Given the description of an element on the screen output the (x, y) to click on. 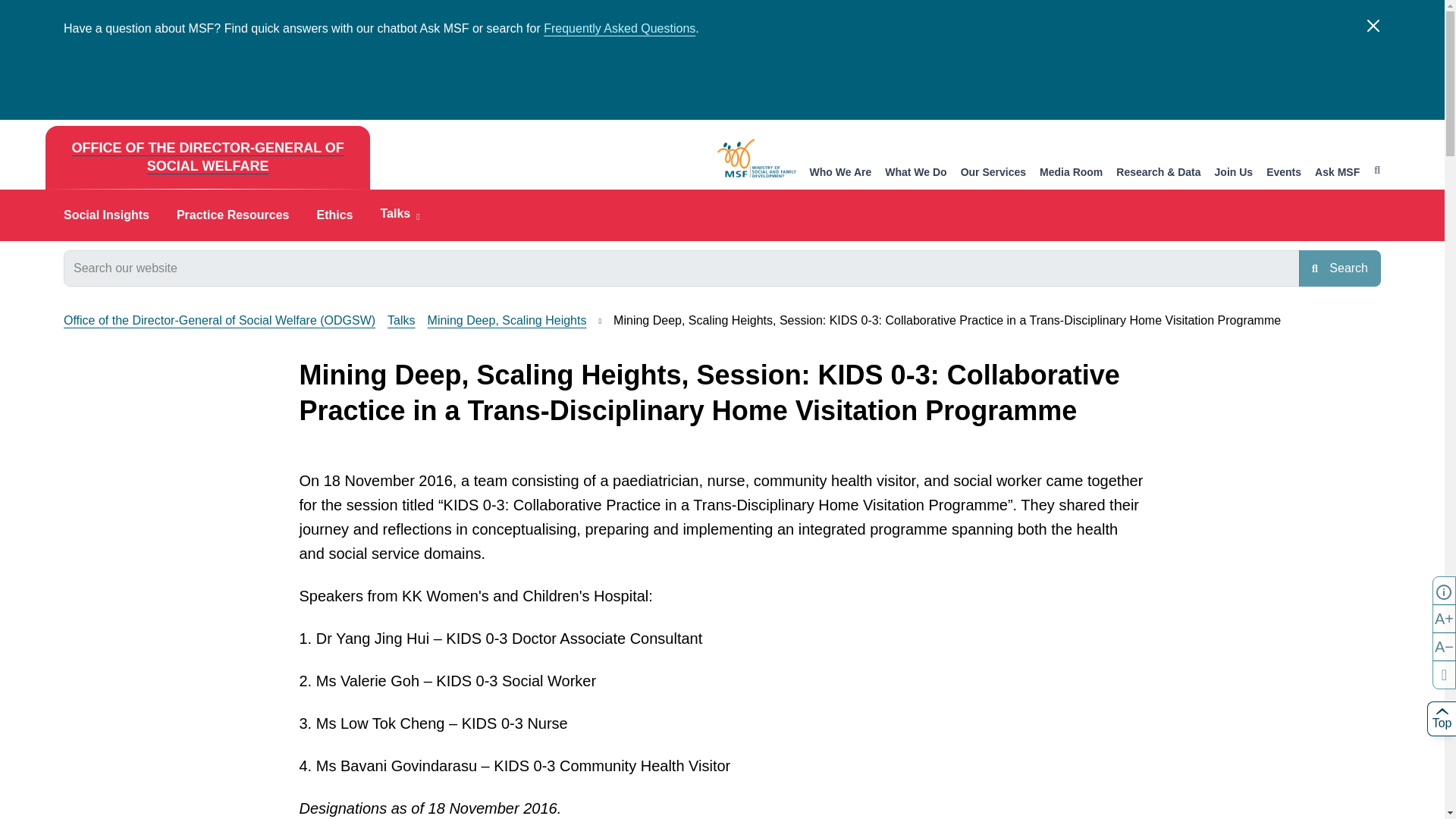
Who We Are (840, 172)
What We Do (915, 172)
MSF logo (756, 157)
Events (1283, 172)
Media Room (1070, 172)
Join Us (1233, 172)
Frequently Asked Questions (619, 28)
Our Services (993, 172)
OFFICE OF THE DIRECTOR-GENERAL OF SOCIAL WELFARE (207, 157)
Ask MSF (1336, 172)
